Given the description of an element on the screen output the (x, y) to click on. 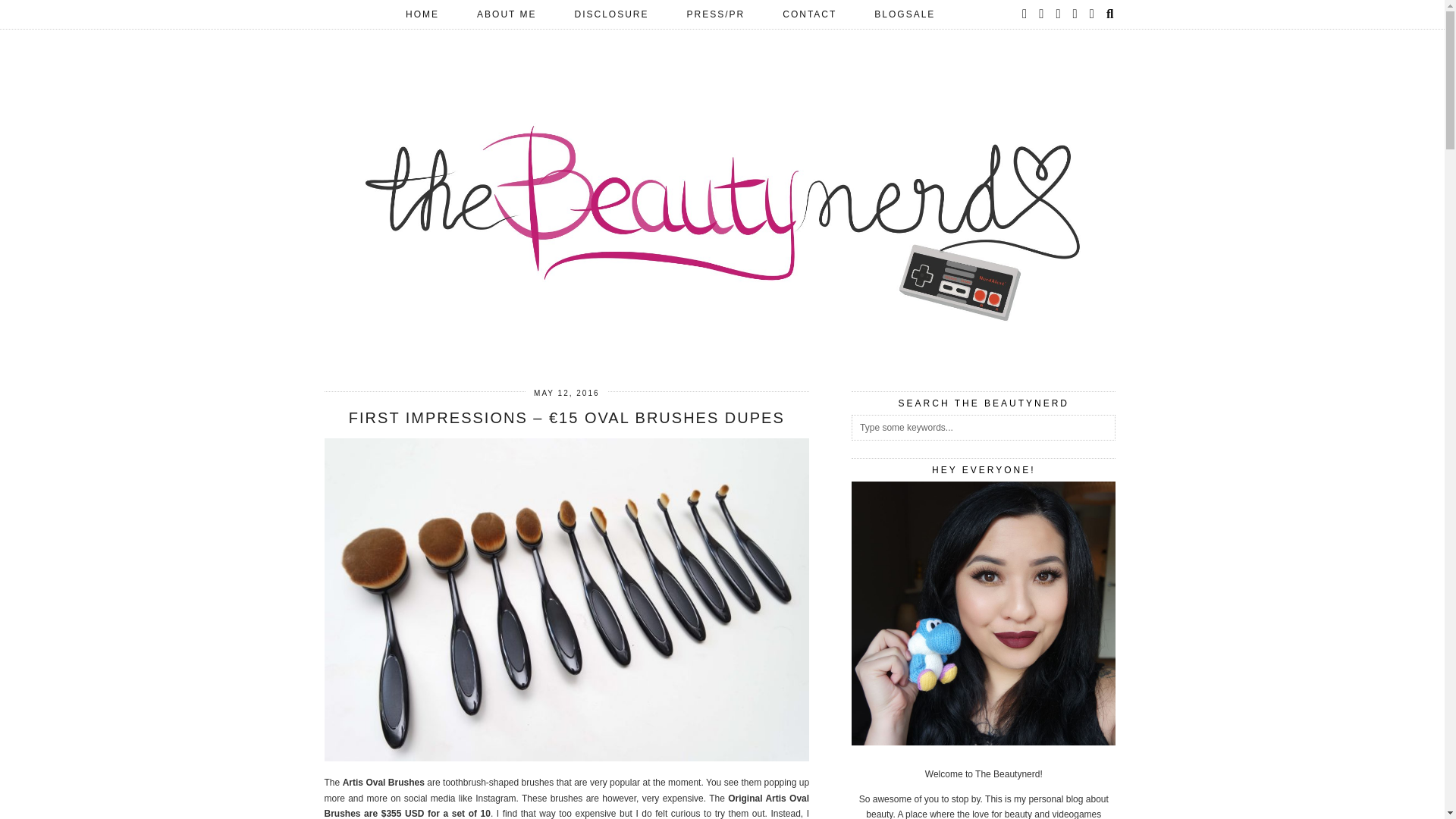
BLOGSALE (904, 14)
ABOUT ME (506, 14)
HOME (422, 14)
CONTACT (809, 14)
DISCLOSURE (612, 14)
